Given the description of an element on the screen output the (x, y) to click on. 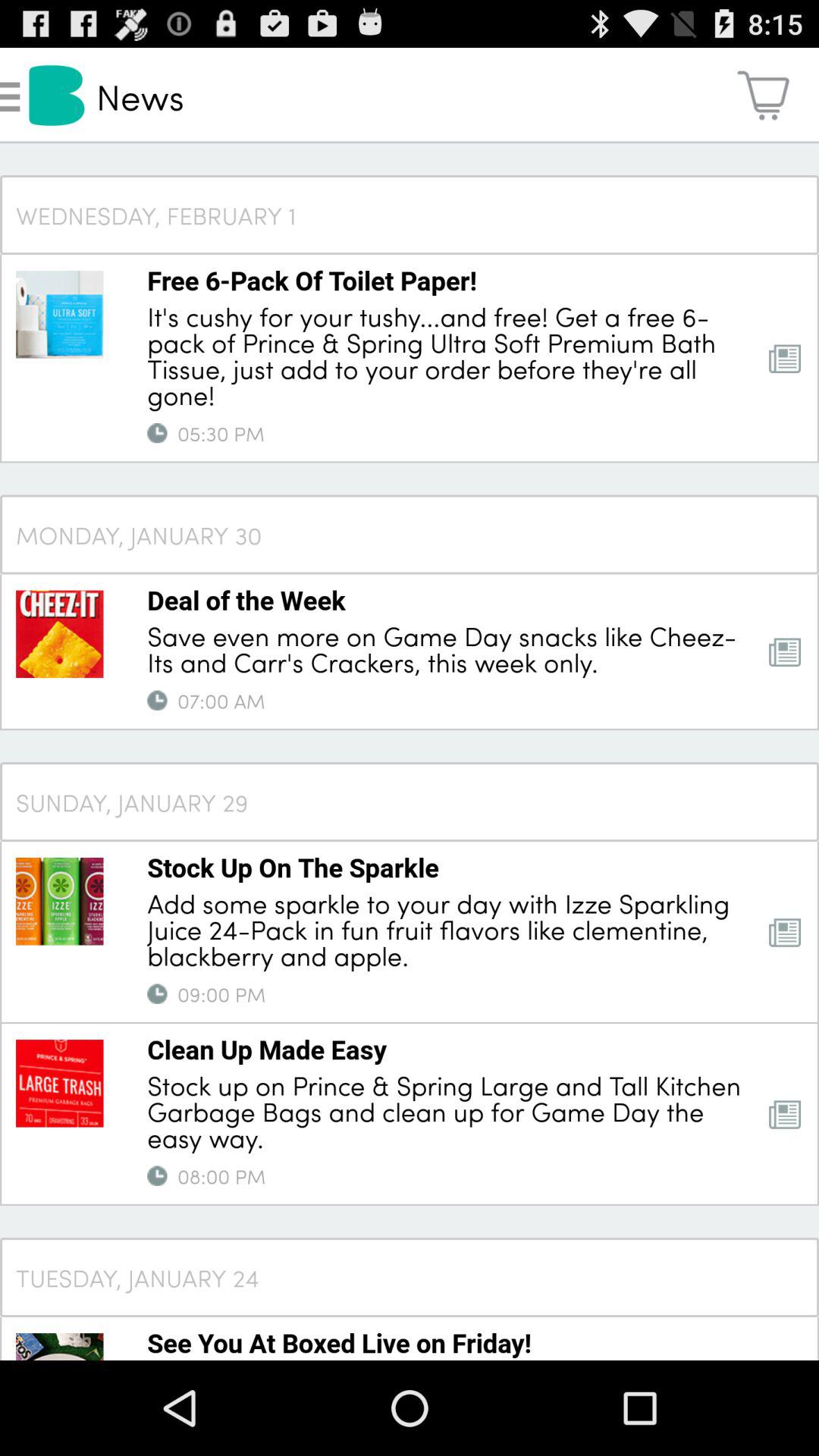
click the icon below the monday, january 30 item (246, 599)
